Given the description of an element on the screen output the (x, y) to click on. 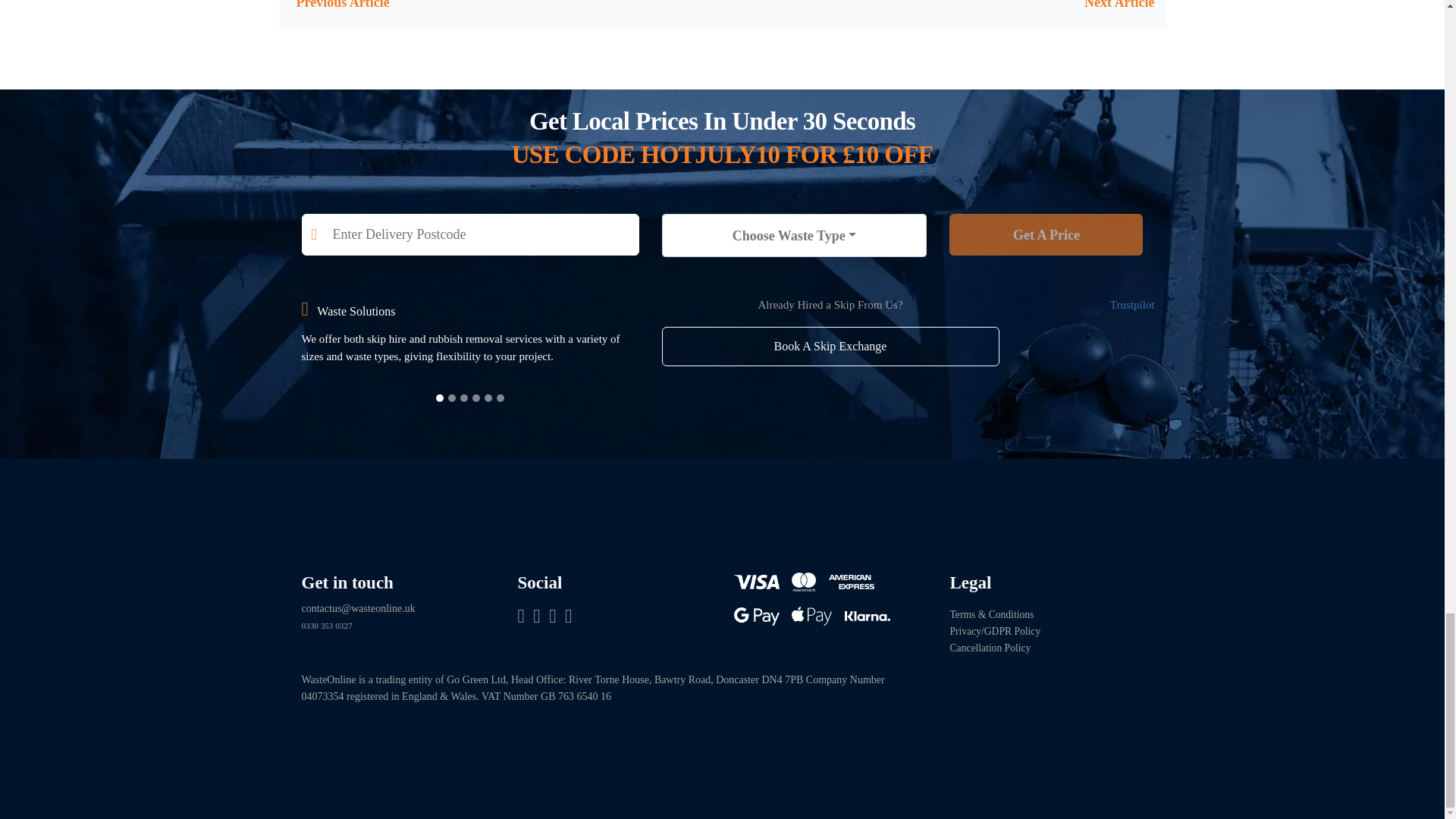
Get A Price (1045, 234)
0330 353 0327 (326, 624)
Trustpilot (1131, 304)
Choose Waste Type (794, 235)
Book A Skip Exchange (829, 346)
